Given the description of an element on the screen output the (x, y) to click on. 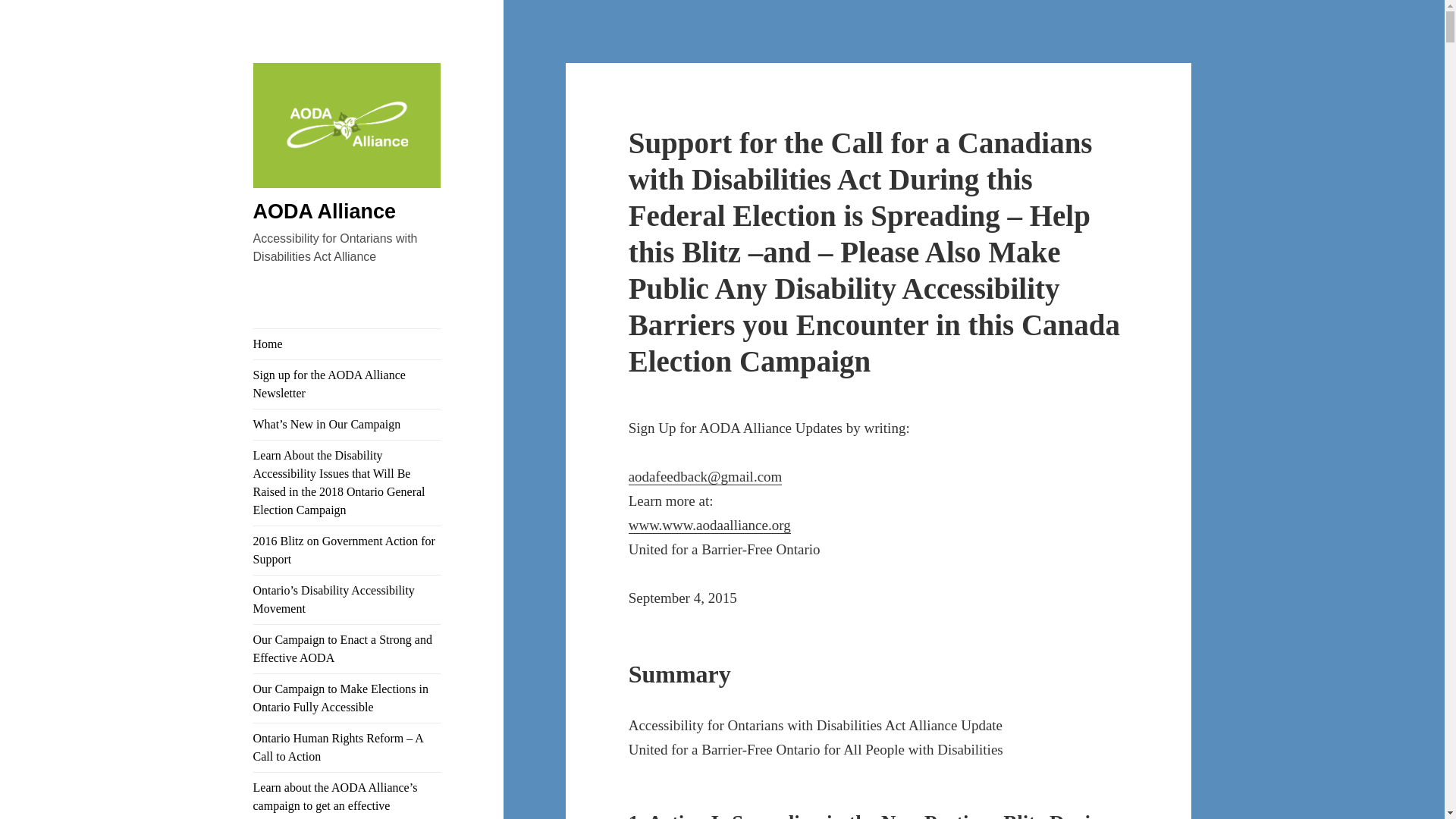
Our Campaign to Make Elections in Ontario Fully Accessible (347, 698)
Our Campaign to Enact a Strong and Effective AODA (347, 648)
Home (347, 344)
Learn more about the AODA Alliance (709, 524)
Sign up for the AODA Alliance Newsletter (347, 384)
2016 Blitz on Government Action for Support (347, 550)
www.www.aodaalliance.org (709, 524)
AODA Alliance (347, 169)
